Given the description of an element on the screen output the (x, y) to click on. 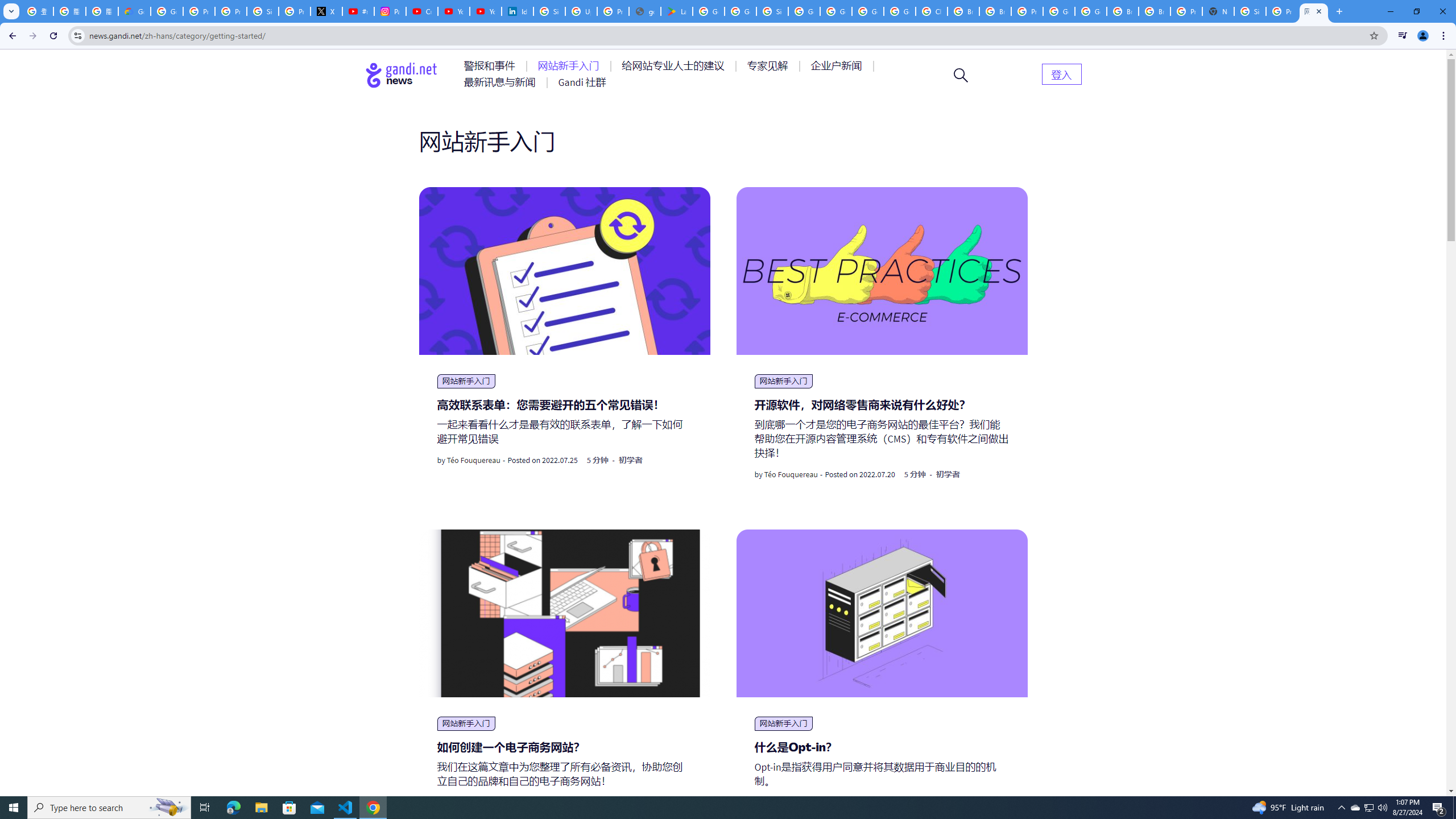
Google Cloud Platform (868, 11)
Privacy Help Center - Policies Help (230, 11)
Google Cloud Platform (1059, 11)
Sign in - Google Accounts (549, 11)
AutomationID: menu-item-77765 (838, 65)
